Given the description of an element on the screen output the (x, y) to click on. 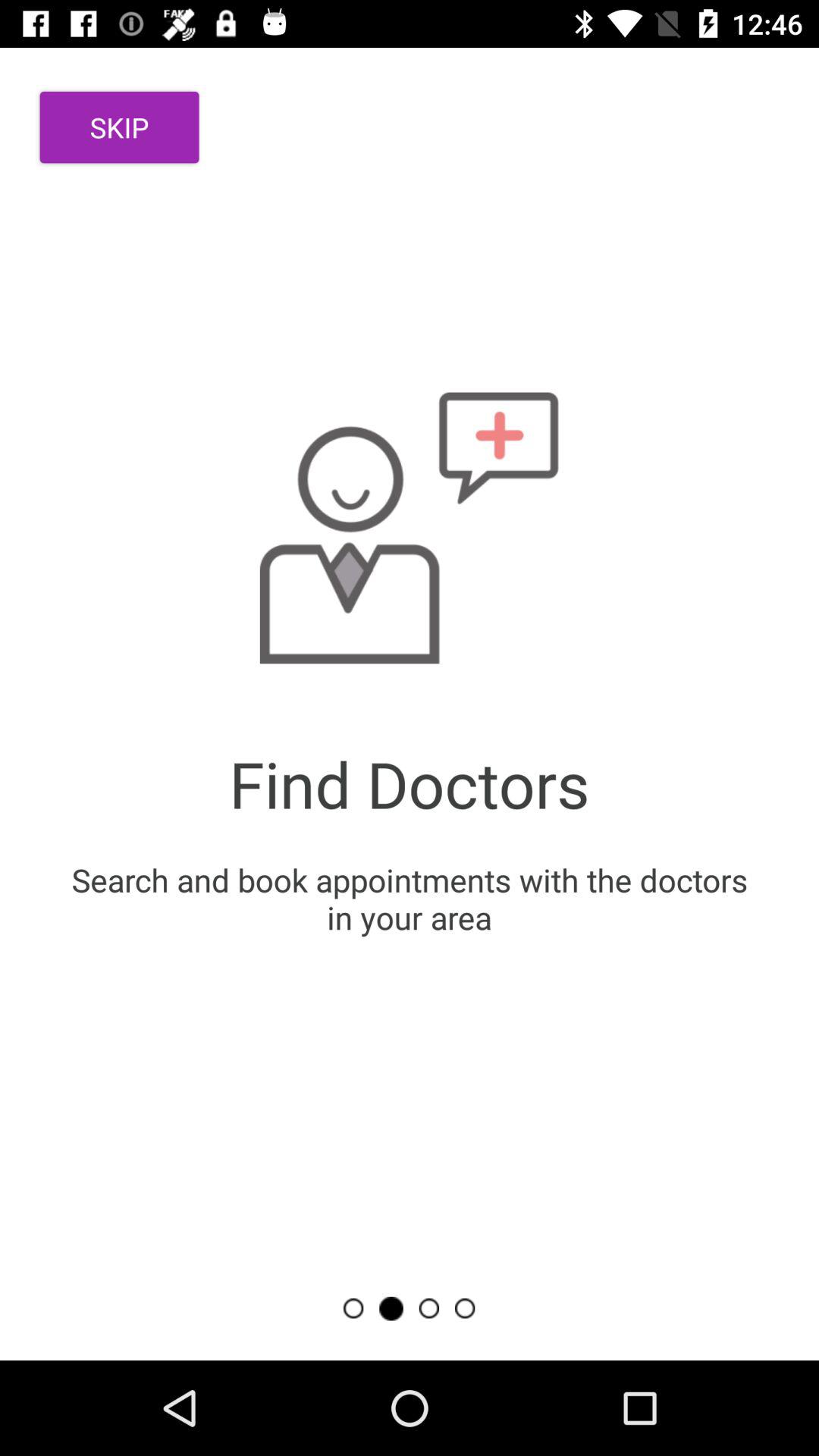
launch the item at the top left corner (119, 127)
